Given the description of an element on the screen output the (x, y) to click on. 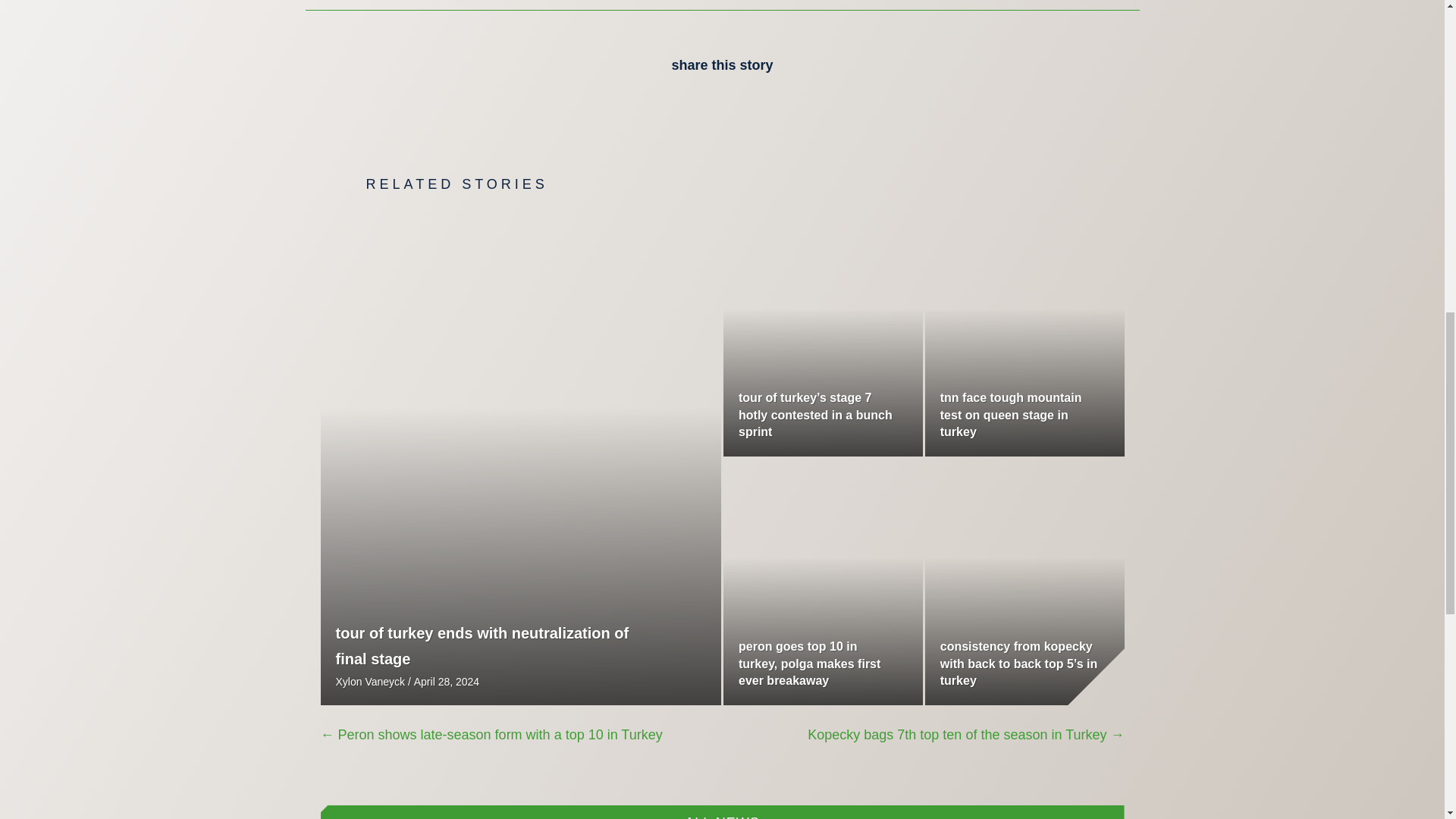
TNN face tough mountain test on Queen stage in Turkey (1010, 414)
tour of turkey ends with neutralization of final stage (481, 645)
Xylon Vaneyck (369, 681)
tnn face tough mountain test on queen stage in turkey (1010, 414)
Tour of Turkey ends with neutralization of final stage (481, 645)
